Given the description of an element on the screen output the (x, y) to click on. 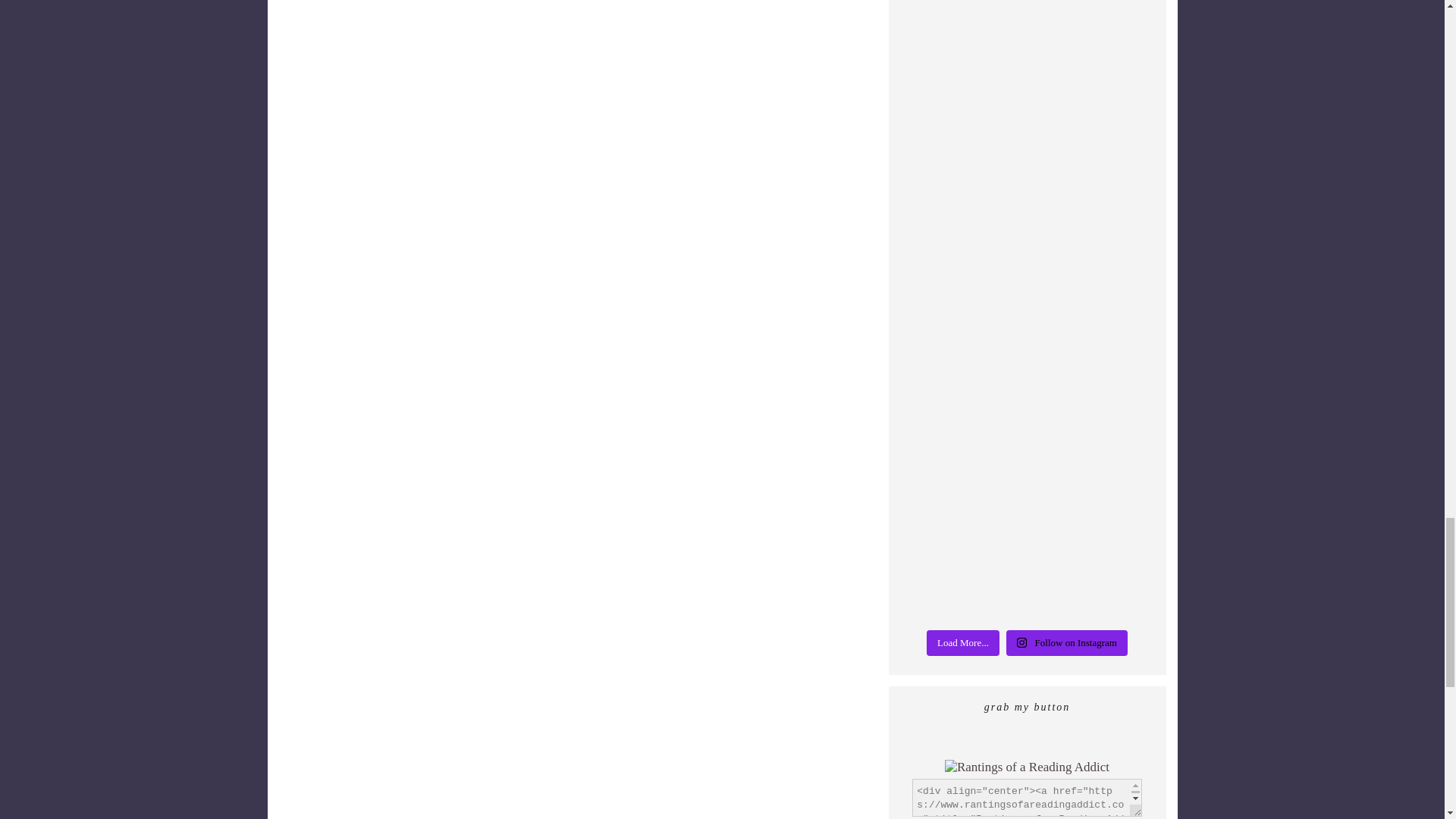
Rantings of a Reading Addict (1026, 767)
